Given the description of an element on the screen output the (x, y) to click on. 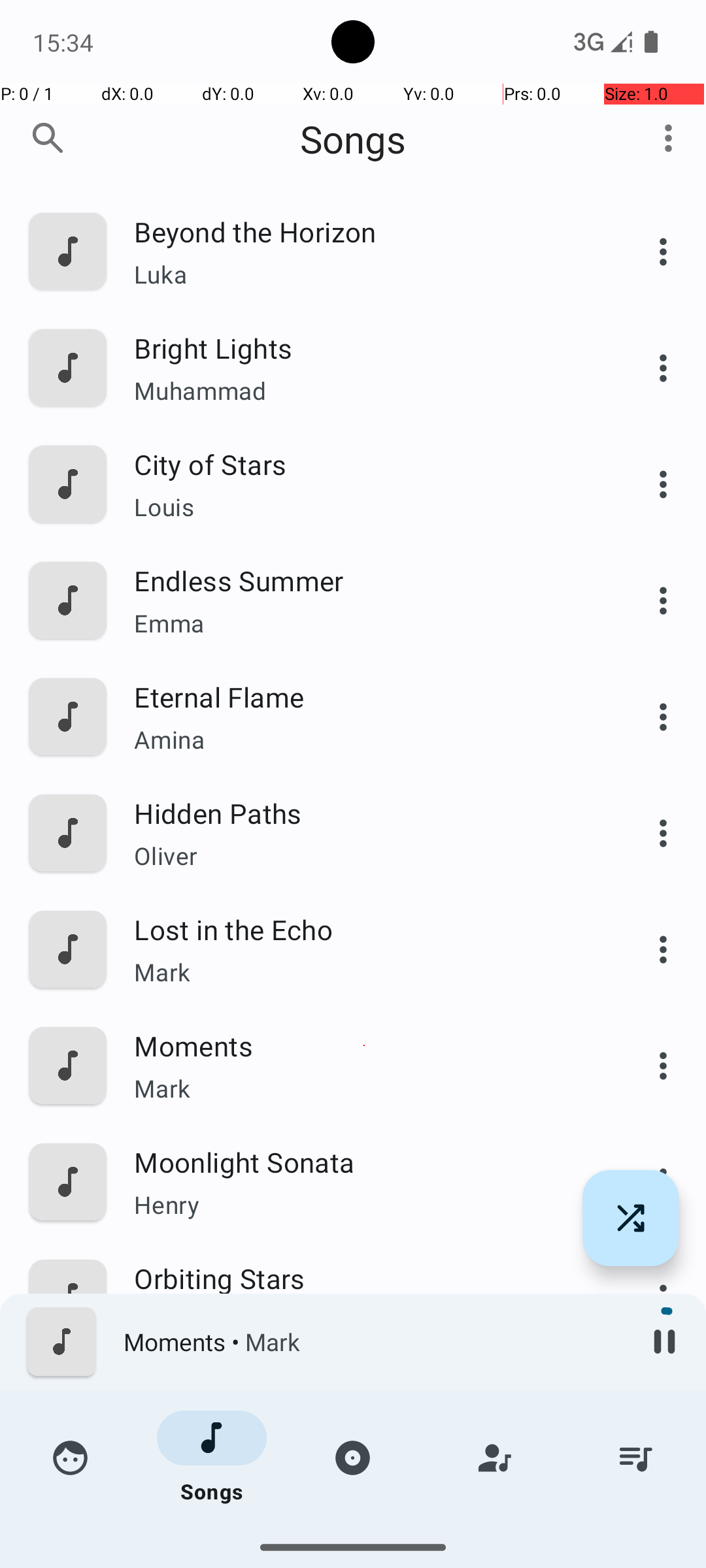
Moments • Mark Element type: android.widget.TextView (372, 1341)
Beyond the Horizon Element type: android.widget.TextView (363, 231)
Luka Element type: android.widget.TextView (363, 273)
Bright Lights Element type: android.widget.TextView (363, 347)
Muhammad Element type: android.widget.TextView (363, 390)
City of Stars Element type: android.widget.TextView (363, 463)
Louis Element type: android.widget.TextView (363, 506)
Endless Summer Element type: android.widget.TextView (363, 580)
Emma Element type: android.widget.TextView (363, 622)
Eternal Flame Element type: android.widget.TextView (363, 696)
Amina Element type: android.widget.TextView (363, 738)
Hidden Paths Element type: android.widget.TextView (363, 812)
Oliver Element type: android.widget.TextView (363, 855)
Lost in the Echo Element type: android.widget.TextView (363, 928)
Mark Element type: android.widget.TextView (363, 971)
Moments Element type: android.widget.TextView (363, 1045)
Moonlight Sonata Element type: android.widget.TextView (363, 1161)
Henry Element type: android.widget.TextView (363, 1204)
Orbiting Stars Element type: android.widget.TextView (363, 1277)
Alejandro Element type: android.widget.TextView (363, 1320)
Path to Zenith Element type: android.widget.TextView (363, 1394)
Matteo Element type: android.widget.TextView (363, 1436)
Rising Sun Element type: android.widget.TextView (363, 1510)
Noah Element type: android.widget.TextView (363, 1538)
